Given the description of an element on the screen output the (x, y) to click on. 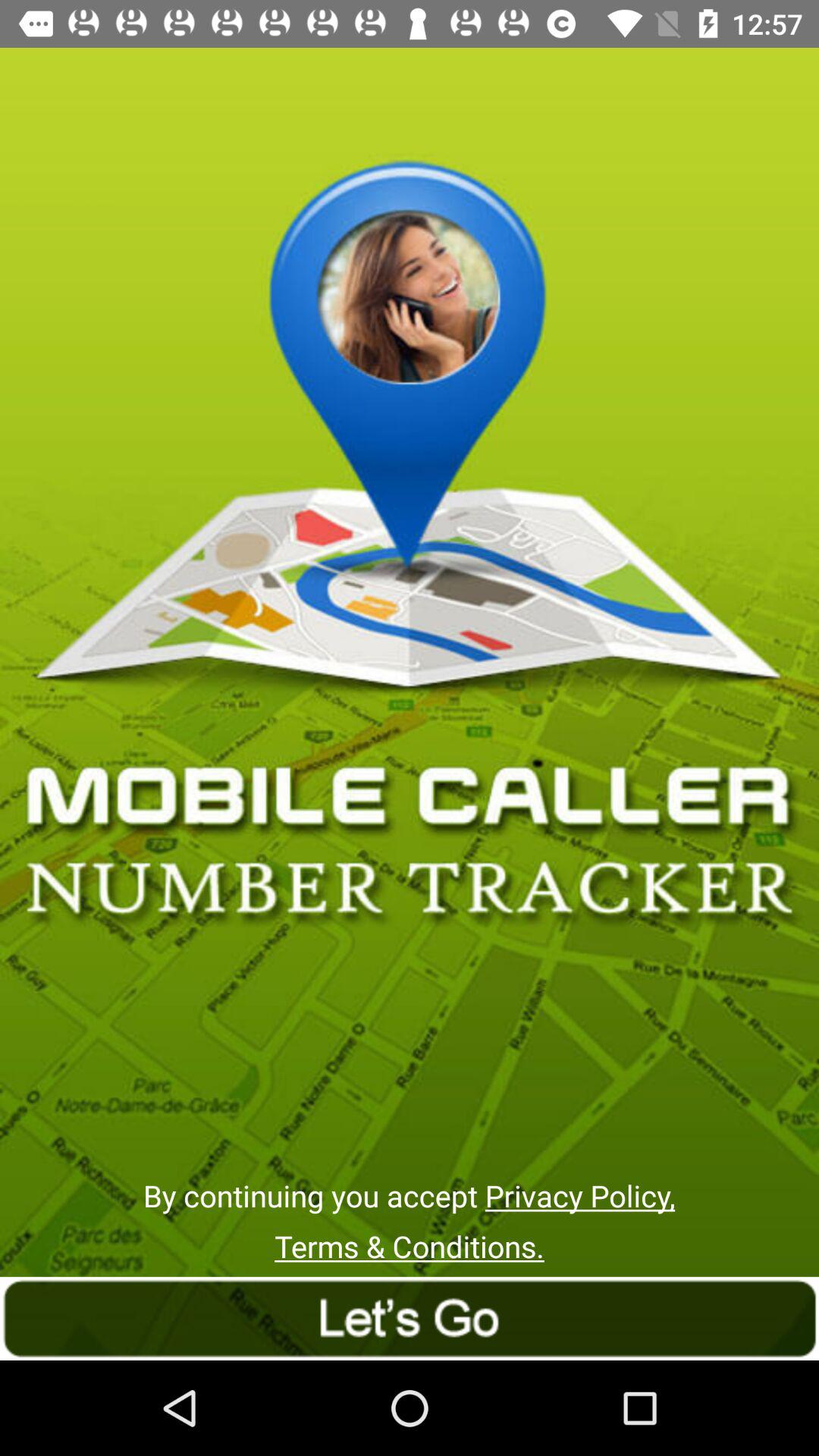
flip until terms & conditions. (409, 1246)
